Given the description of an element on the screen output the (x, y) to click on. 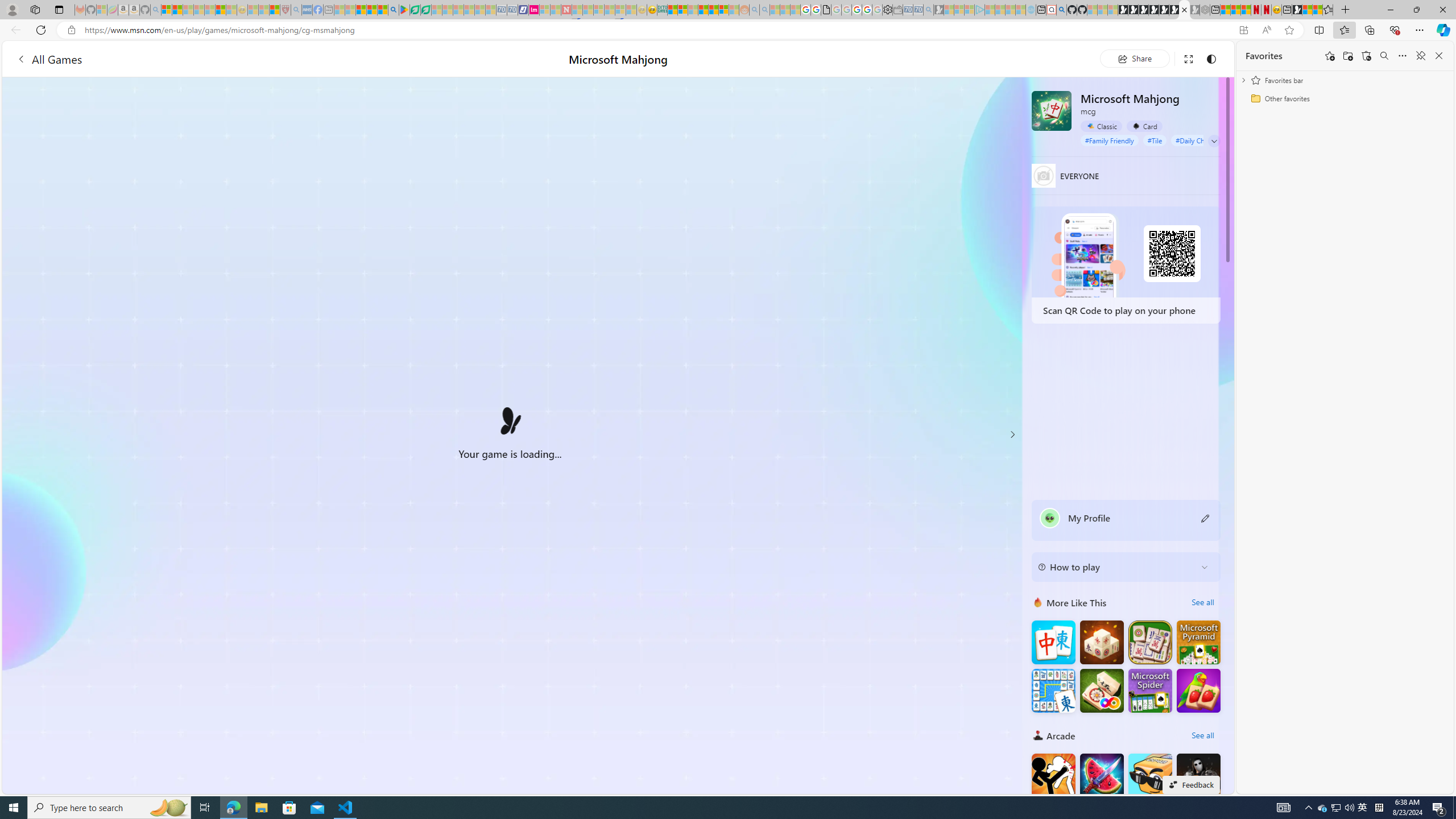
Share (1134, 58)
App available. Install Microsoft Mahjong (1243, 29)
Search favorites (1383, 55)
Class: button edit-icon (1205, 517)
Microsoft Word - consumer-privacy address update 2.2021 (426, 9)
#Tile (1154, 140)
